Given the description of an element on the screen output the (x, y) to click on. 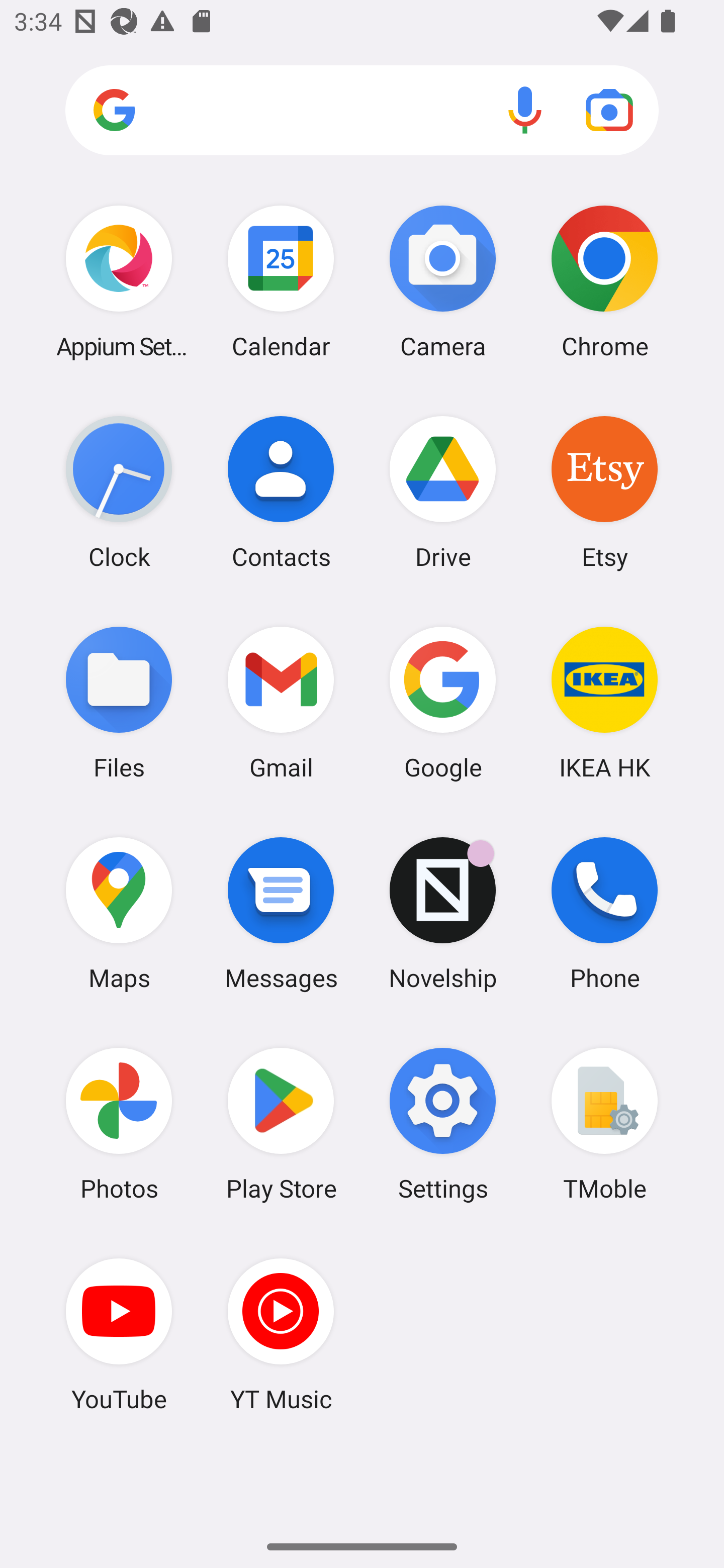
Search apps, web and more (361, 110)
Voice search (524, 109)
Google Lens (608, 109)
Appium Settings (118, 281)
Calendar (280, 281)
Camera (443, 281)
Chrome (604, 281)
Clock (118, 492)
Contacts (280, 492)
Drive (443, 492)
Etsy (604, 492)
Files (118, 702)
Gmail (280, 702)
Google (443, 702)
IKEA HK (604, 702)
Maps (118, 913)
Messages (280, 913)
Novelship Novelship has 5 notifications (443, 913)
Phone (604, 913)
Photos (118, 1124)
Play Store (280, 1124)
Settings (443, 1124)
TMoble (604, 1124)
YouTube (118, 1334)
YT Music (280, 1334)
